Given the description of an element on the screen output the (x, y) to click on. 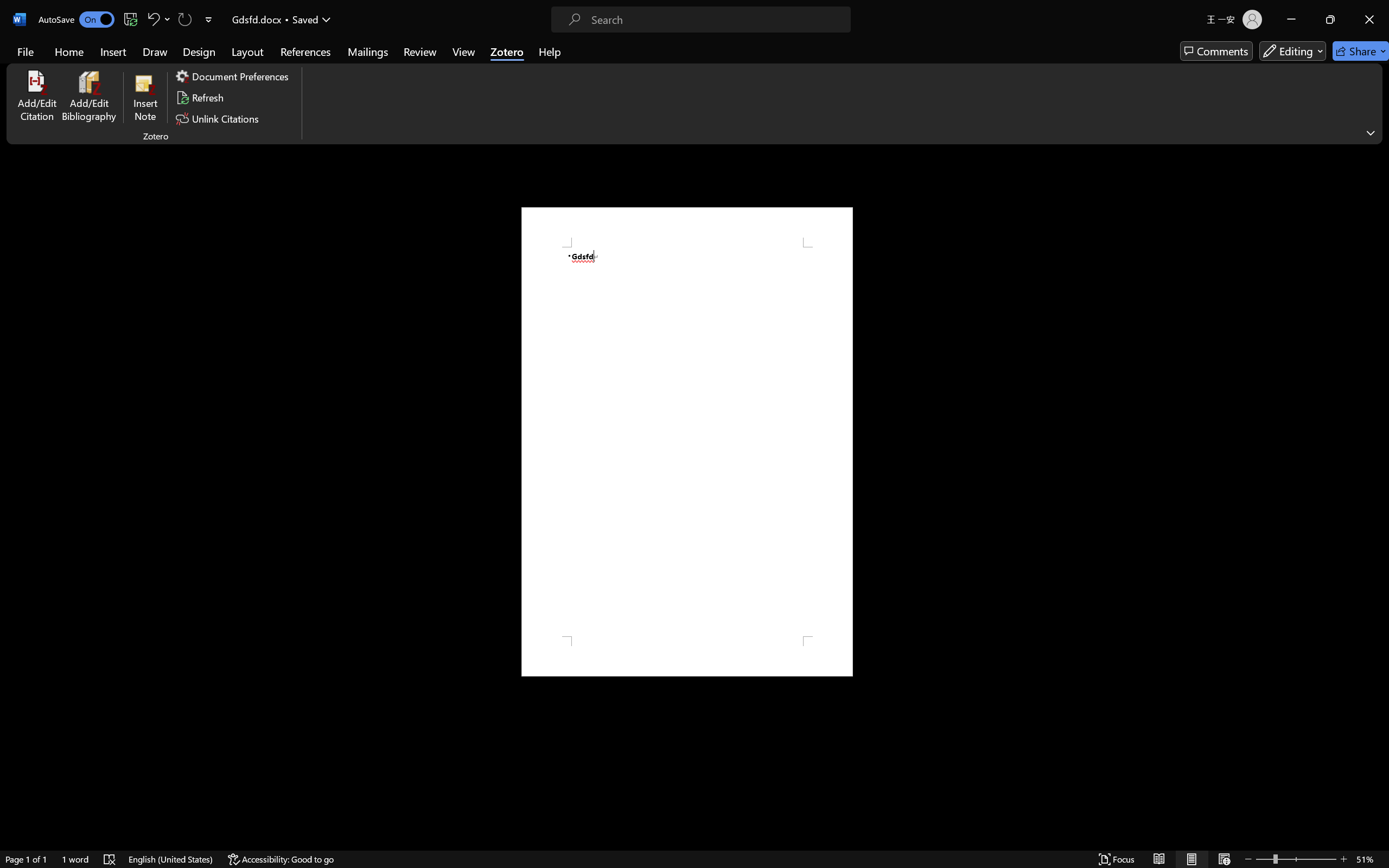
Page 1 content (686, 441)
